Given the description of an element on the screen output the (x, y) to click on. 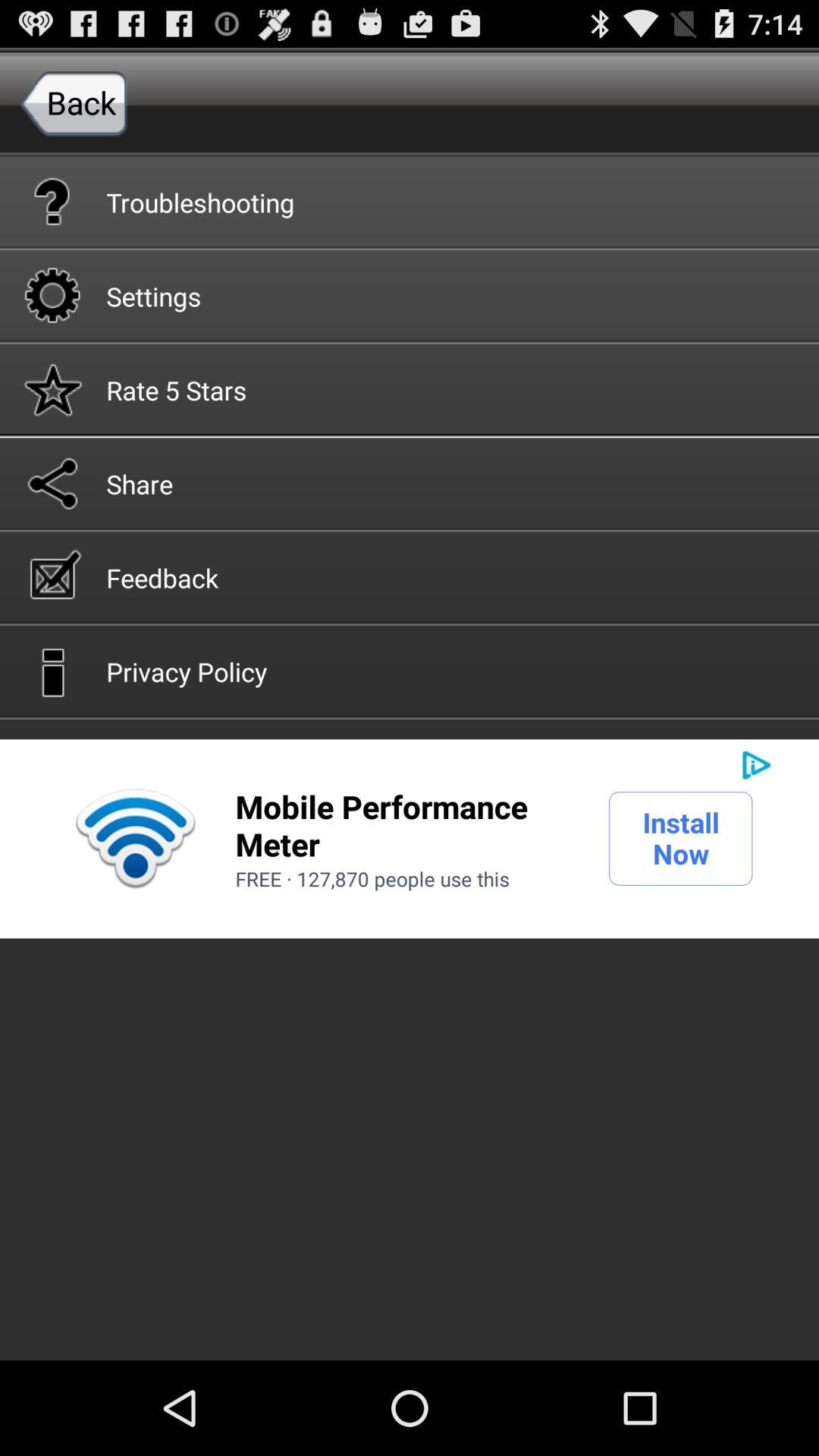
launch the install now item (680, 838)
